Given the description of an element on the screen output the (x, y) to click on. 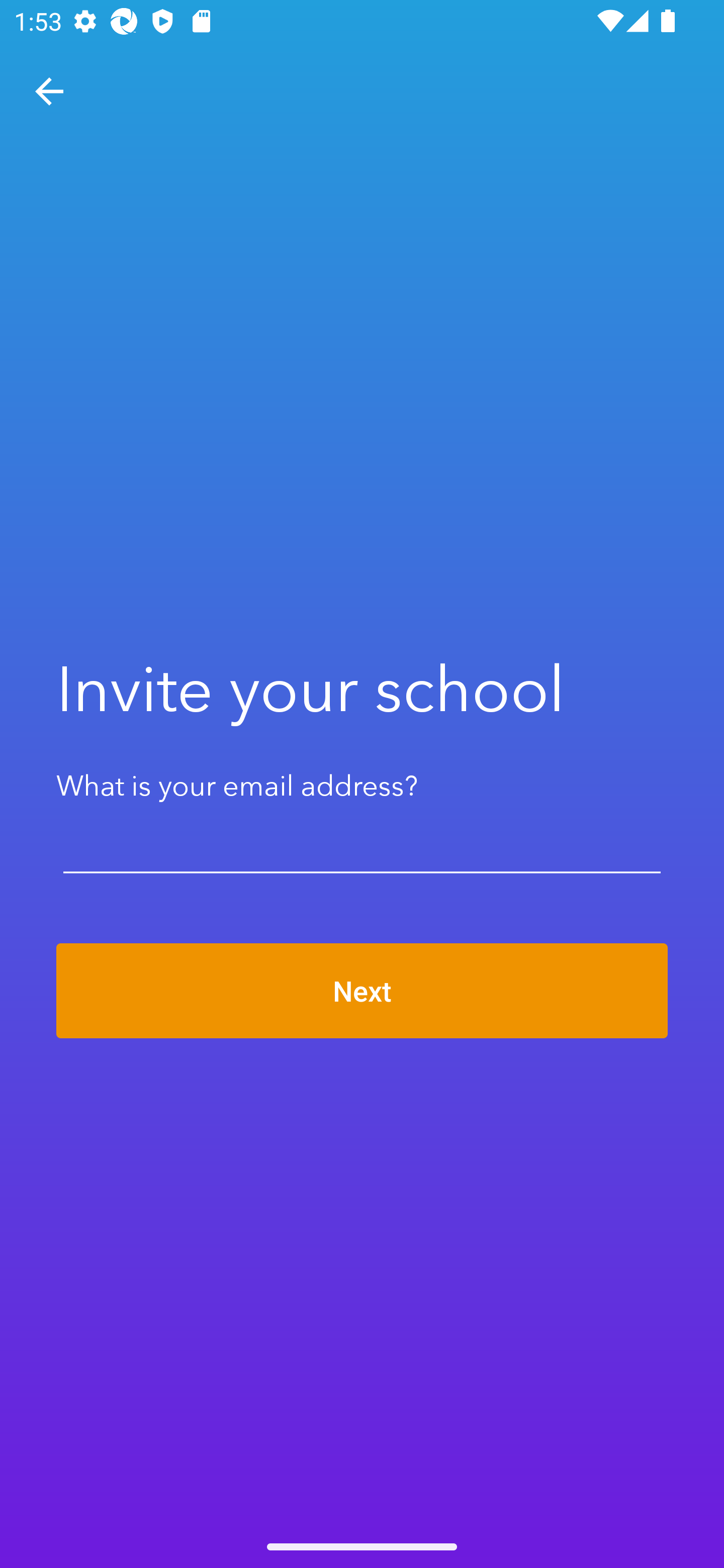
Navigate up (49, 91)
Next (361, 990)
